Given the description of an element on the screen output the (x, y) to click on. 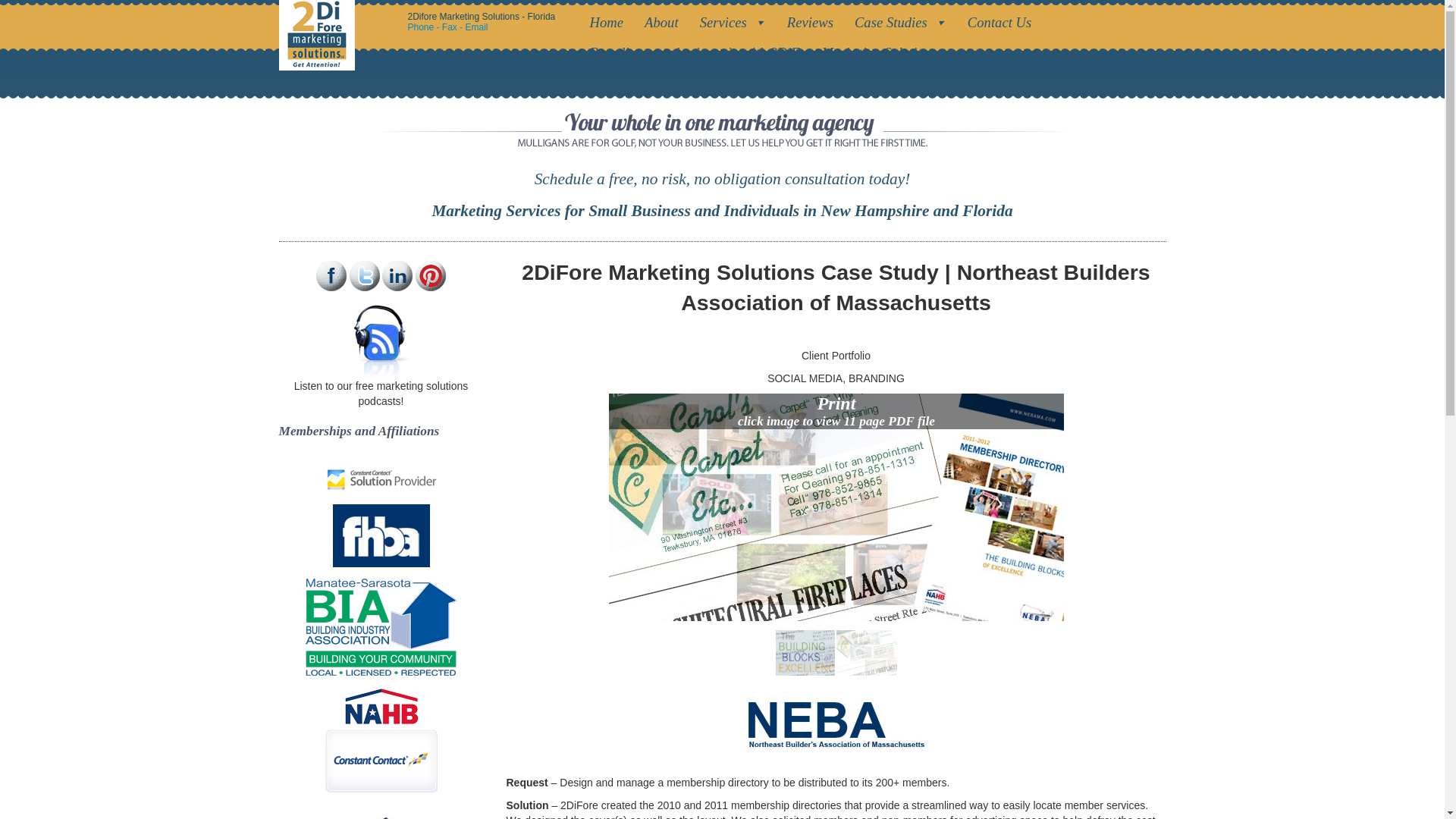
Branding your business in with 2DiFore Marketing Solutions Element type: text (766, 52)
About Element type: text (664, 22)
Home Element type: text (609, 22)
Reviews Element type: text (813, 22)
Schedule a free, no risk, no obligation consultation today! Element type: text (722, 178)
Phone - Fax - Email Element type: text (447, 26)
Case Studies Element type: text (903, 22)
Contact Us Element type: text (1002, 22)
Services Element type: text (735, 22)
